Given the description of an element on the screen output the (x, y) to click on. 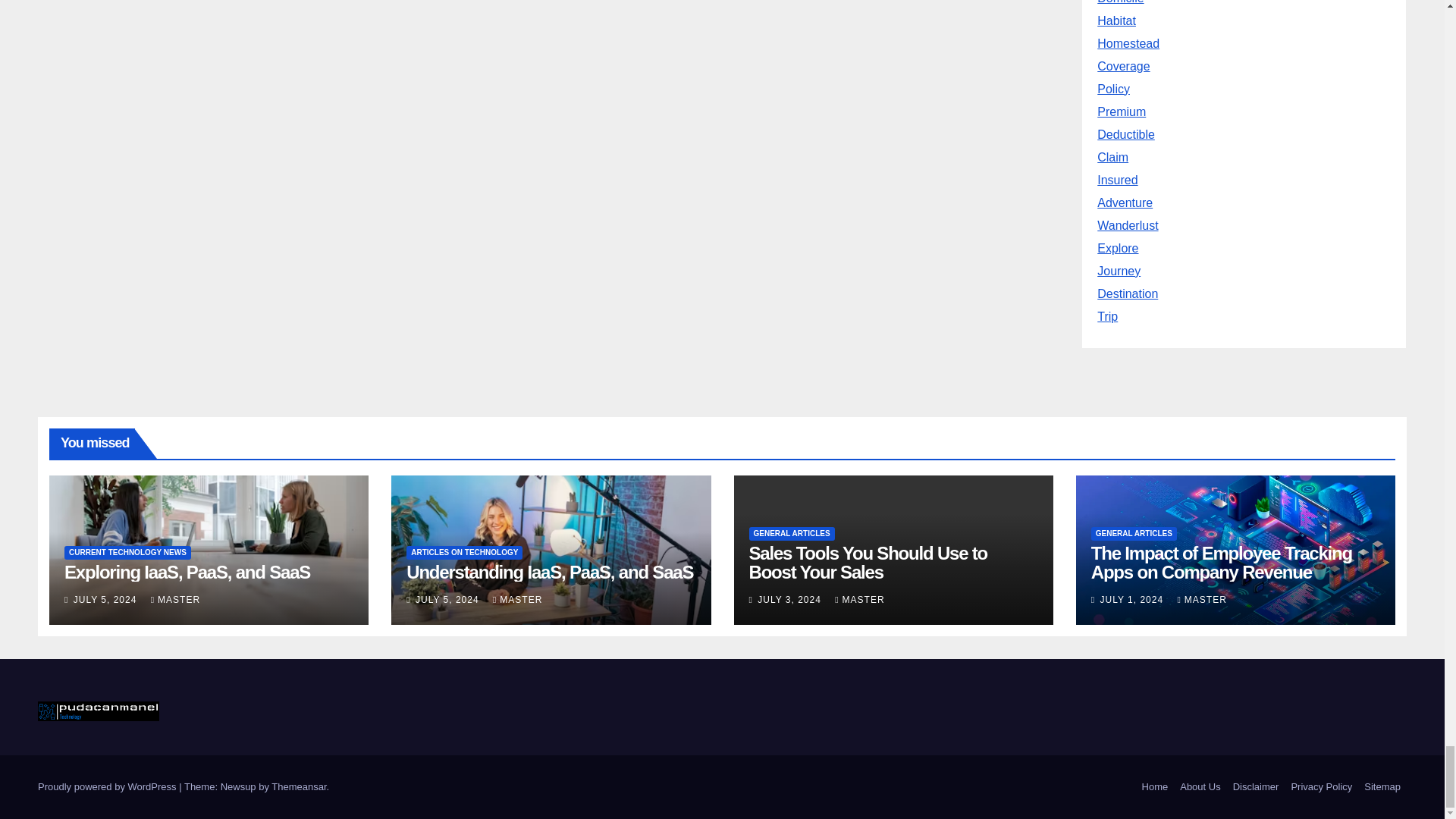
Permalink to: Exploring IaaS, PaaS, and SaaS (187, 571)
